Given the description of an element on the screen output the (x, y) to click on. 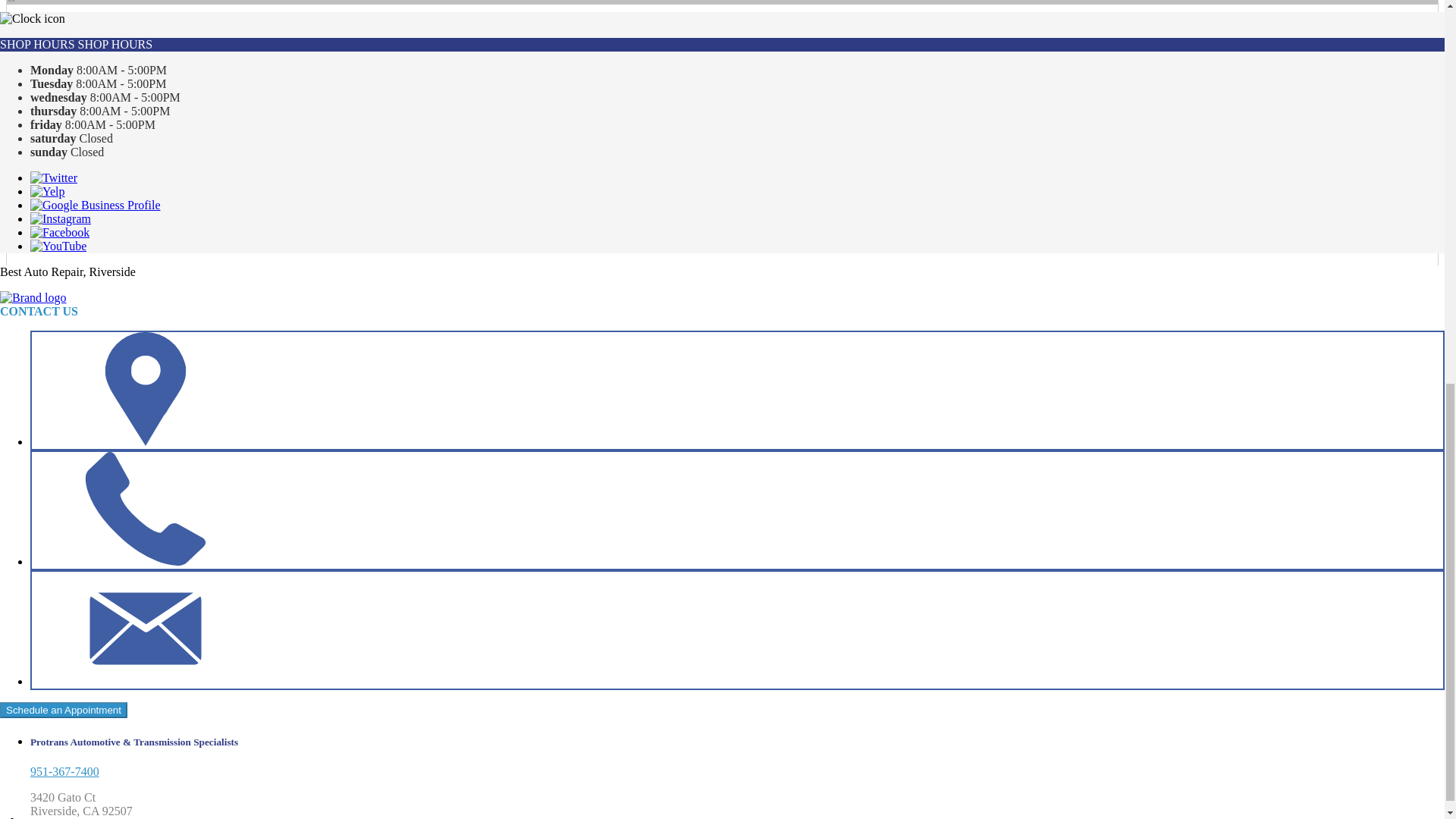
SLIDESHOW (96, 201)
GENERAL MAINTENANCE (134, 323)
COST SAVING TIPS (114, 337)
CUSTOMER SURVEY (119, 432)
TRADE IN A GAS GUZZLER (136, 350)
DIESEL REPAIR (104, 241)
GUARANTEES (101, 269)
CONTACT US (98, 296)
REPAIR SERVICES (111, 228)
951-367-7400 (64, 40)
CONTACT US (67, 378)
REPAIR TIPS (65, 282)
COUPONS (89, 119)
REVIEWS (88, 146)
OUR SHOP (60, 105)
